Given the description of an element on the screen output the (x, y) to click on. 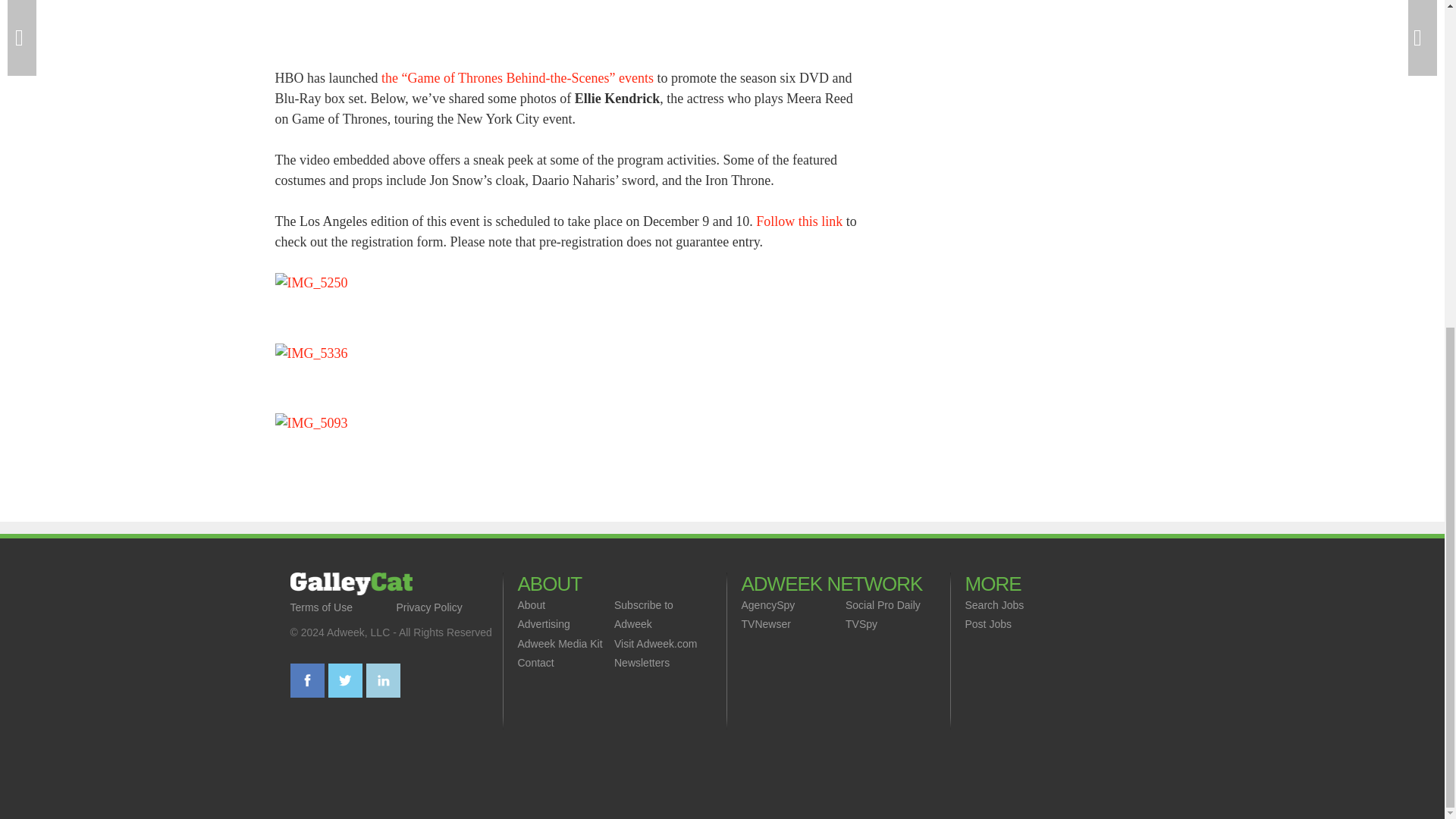
Covering the book publishing industry (350, 583)
Follow this link (799, 221)
